Given the description of an element on the screen output the (x, y) to click on. 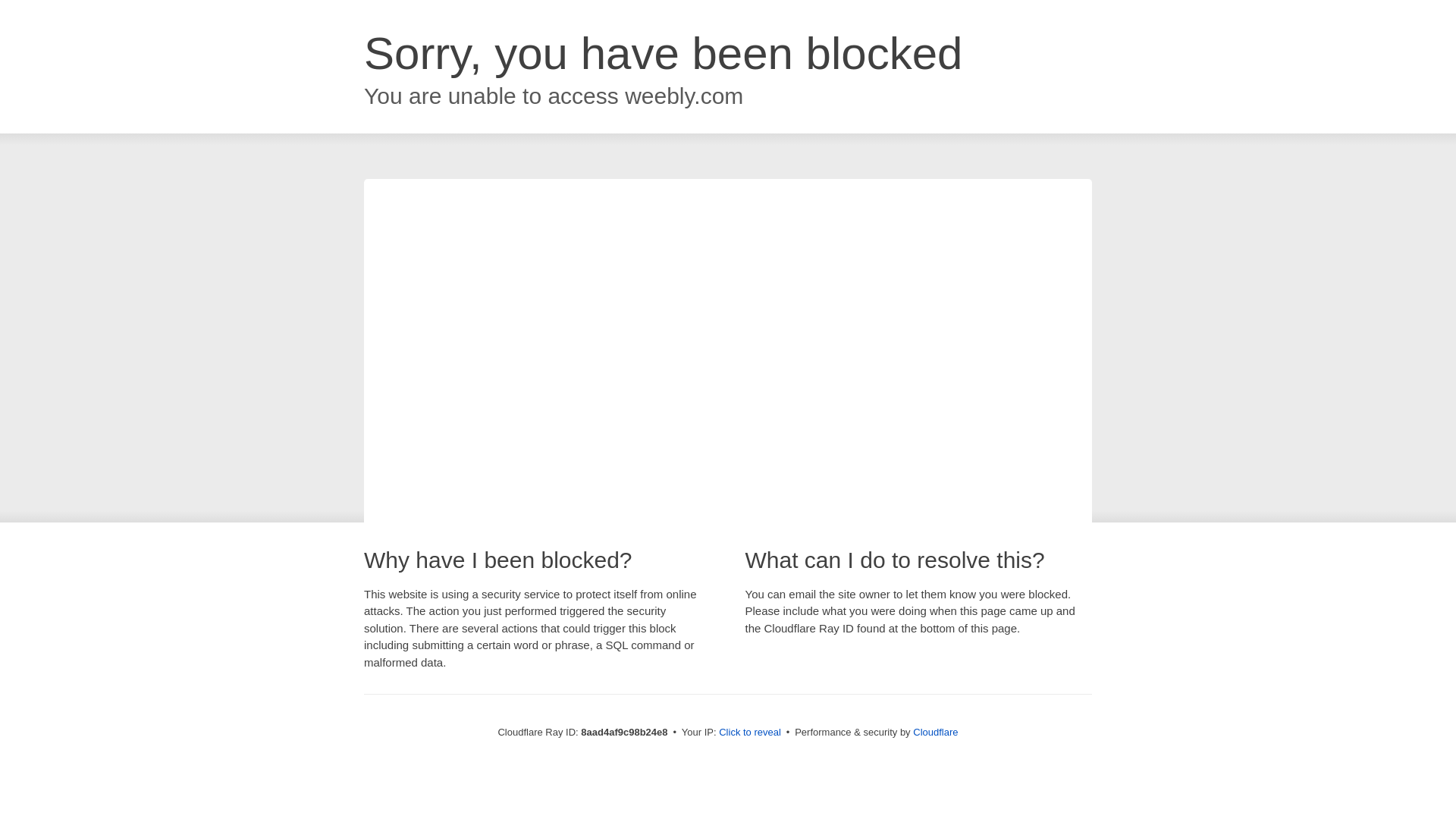
Cloudflare (935, 731)
Click to reveal (749, 732)
